Given the description of an element on the screen output the (x, y) to click on. 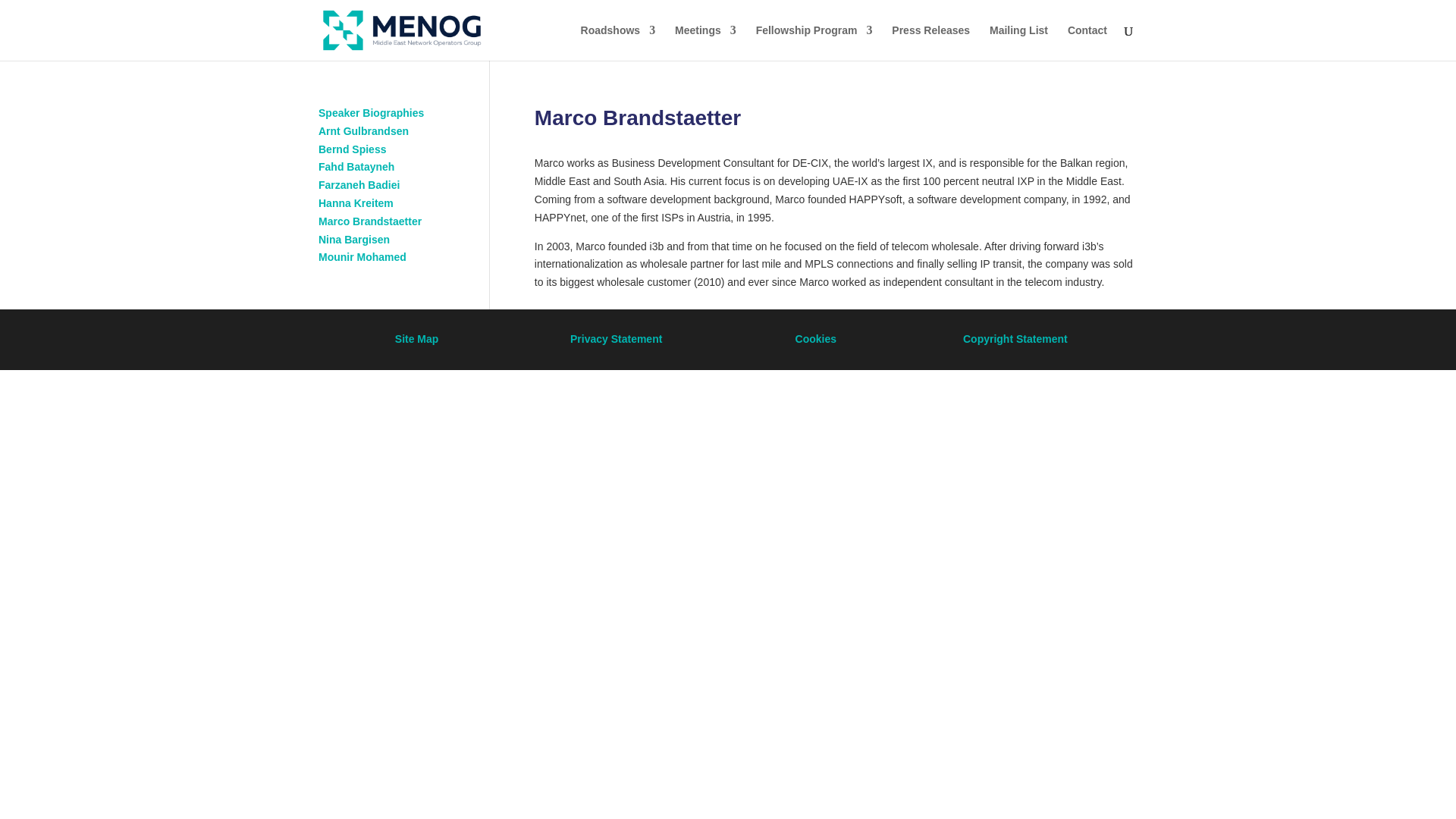
Press Releases (930, 42)
Contact (1086, 42)
Meetings (705, 42)
Mailing List (1019, 42)
Speaker Biographies (370, 112)
Arnt Gulbrandsen (363, 131)
Fellowship Program (813, 42)
Bernd Spiess (351, 149)
Roadshows (618, 42)
